Given the description of an element on the screen output the (x, y) to click on. 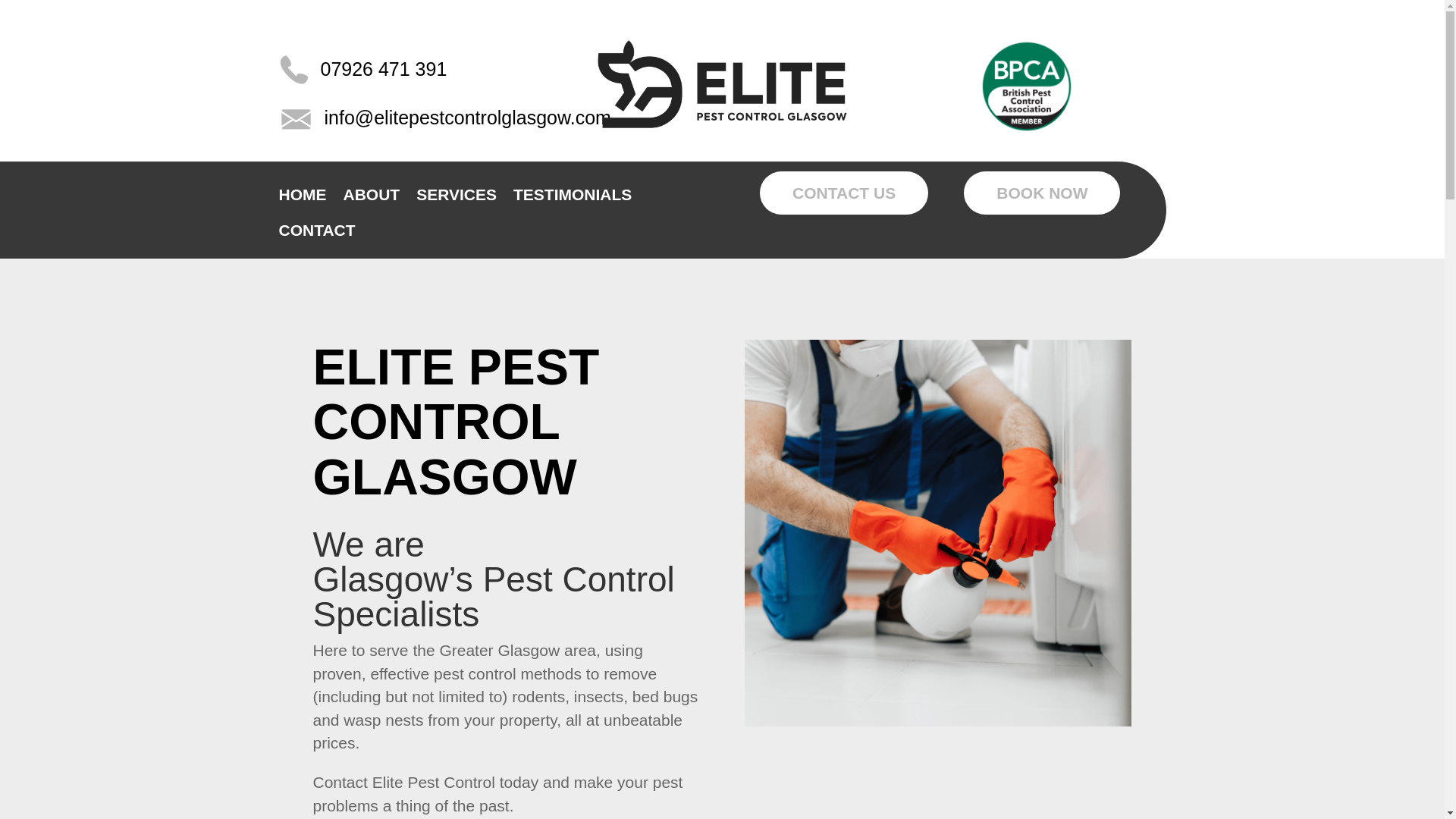
elite pest control logo black (722, 83)
SERVICES (456, 197)
Untitled design (1026, 86)
HOME (302, 197)
TESTIMONIALS (572, 197)
CONTACT US (844, 193)
ABOUT (370, 197)
BOOK NOW (1041, 193)
CONTACT (317, 233)
